Given the description of an element on the screen output the (x, y) to click on. 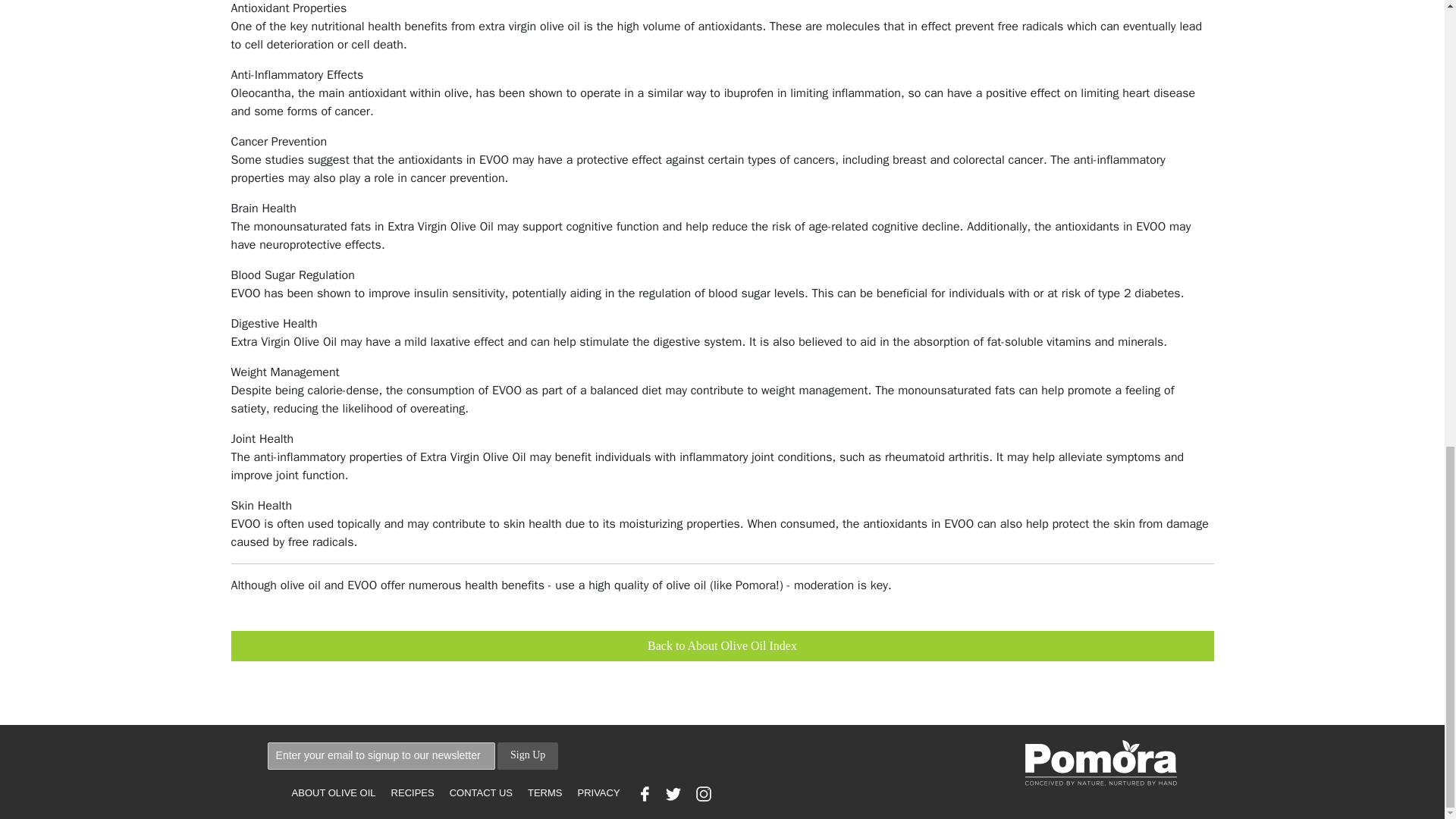
Sign Up (527, 755)
CONTACT US (480, 792)
TERMS (544, 792)
RECIPES (412, 792)
Sign Up (527, 755)
Pomora Twitter (673, 793)
PRIVACY (598, 792)
Pomora Facebook (642, 793)
Pomora Adopt An Olive Tree (1100, 762)
Pomora Instagram (703, 793)
ABOUT OLIVE OIL (333, 792)
Back to About Olive Oil Index (721, 645)
